Given the description of an element on the screen output the (x, y) to click on. 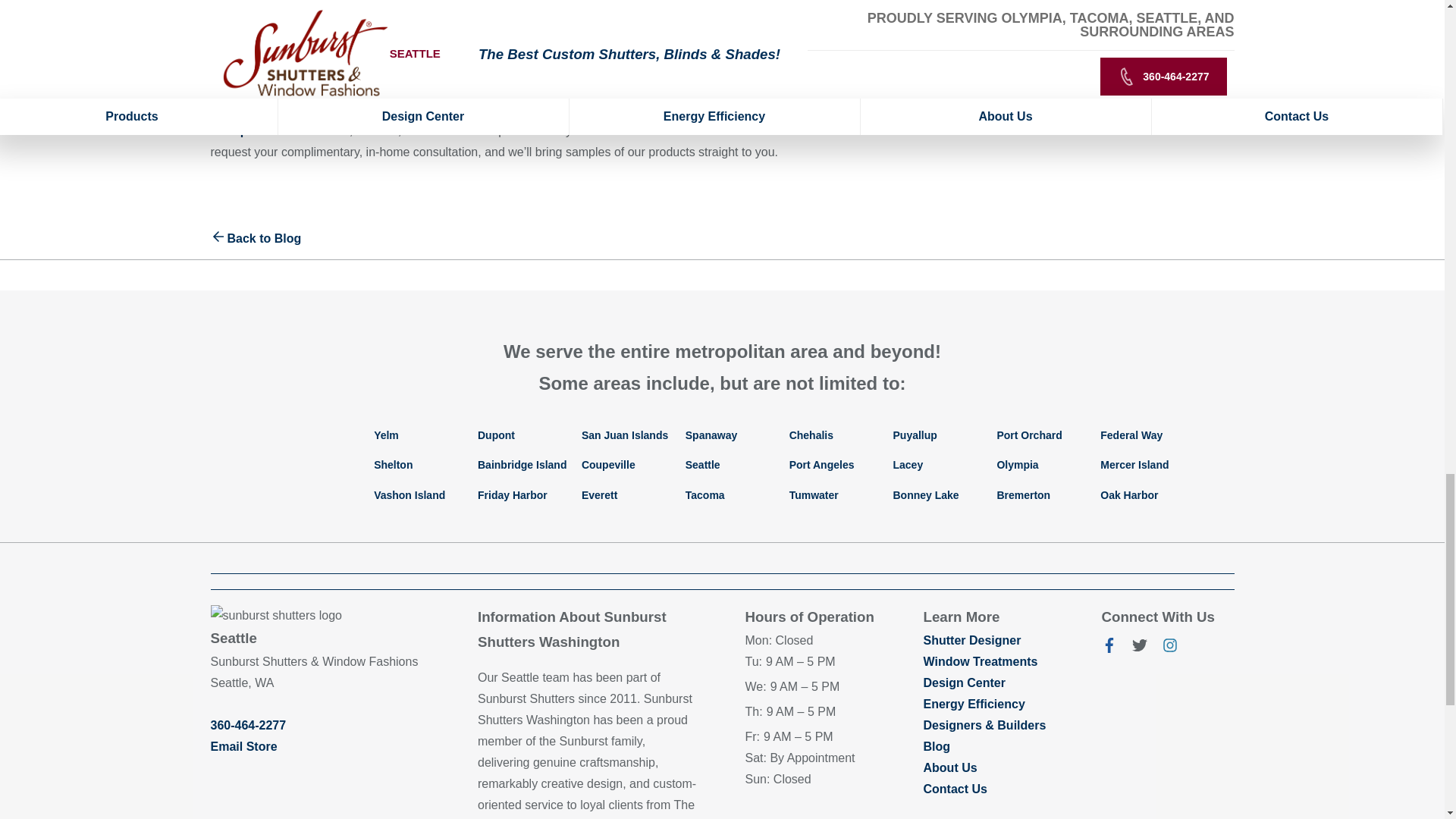
Follow us on Twitter (1139, 648)
Follow us on Instagram (1168, 648)
Plantation shutters in Seattle (294, 130)
Blinds in Seattle (422, 130)
Window shades in Seattle (376, 130)
Like us on Facebook (1108, 648)
